Given the description of an element on the screen output the (x, y) to click on. 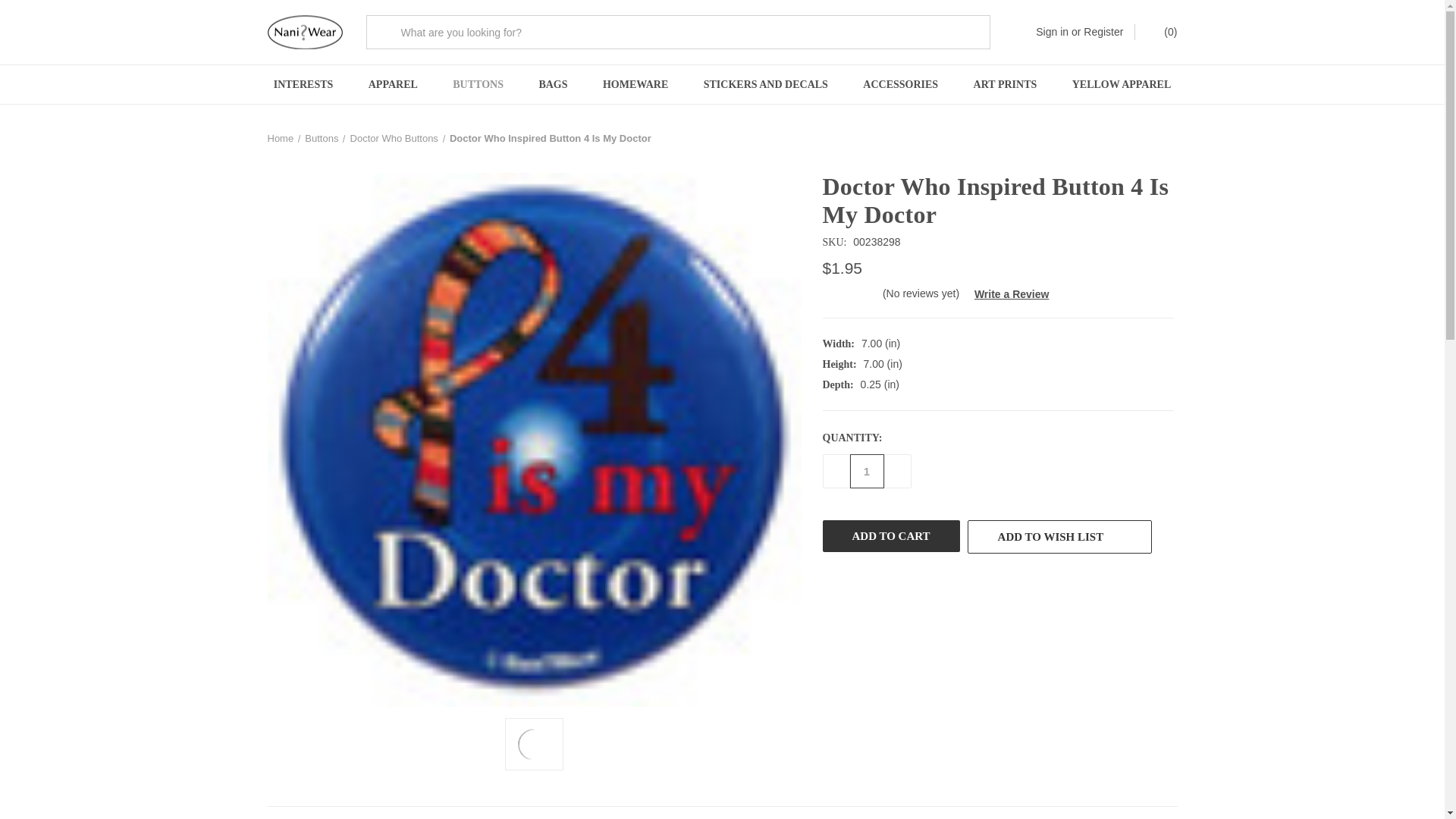
Doctor Who Button: 4 is My Doctor  (534, 744)
INTERESTS (303, 84)
Add to Cart (890, 536)
1 (865, 471)
APPAREL (392, 84)
Nani?Wear (304, 32)
Sign in (1051, 32)
BUTTONS (478, 84)
Register (1102, 32)
